Given the description of an element on the screen output the (x, y) to click on. 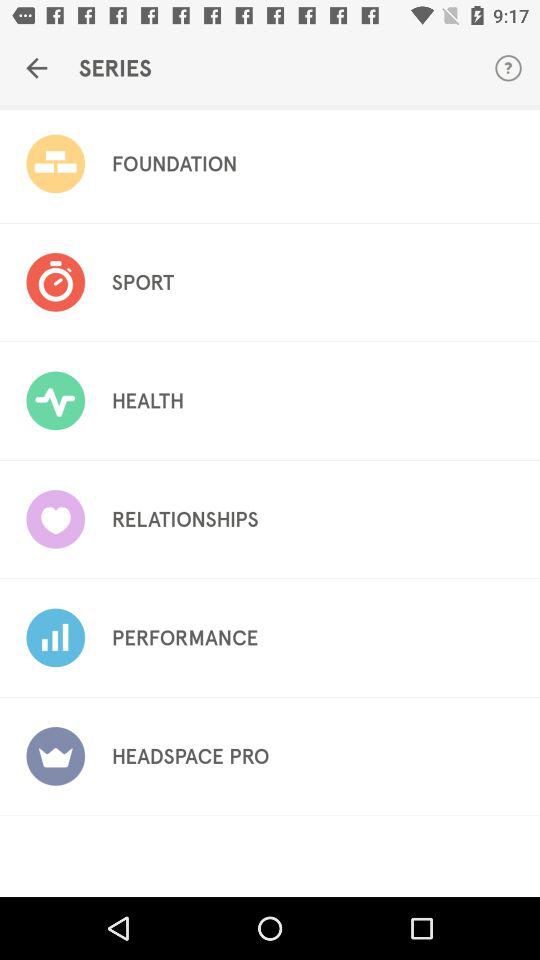
tap the item next to the series (36, 68)
